Given the description of an element on the screen output the (x, y) to click on. 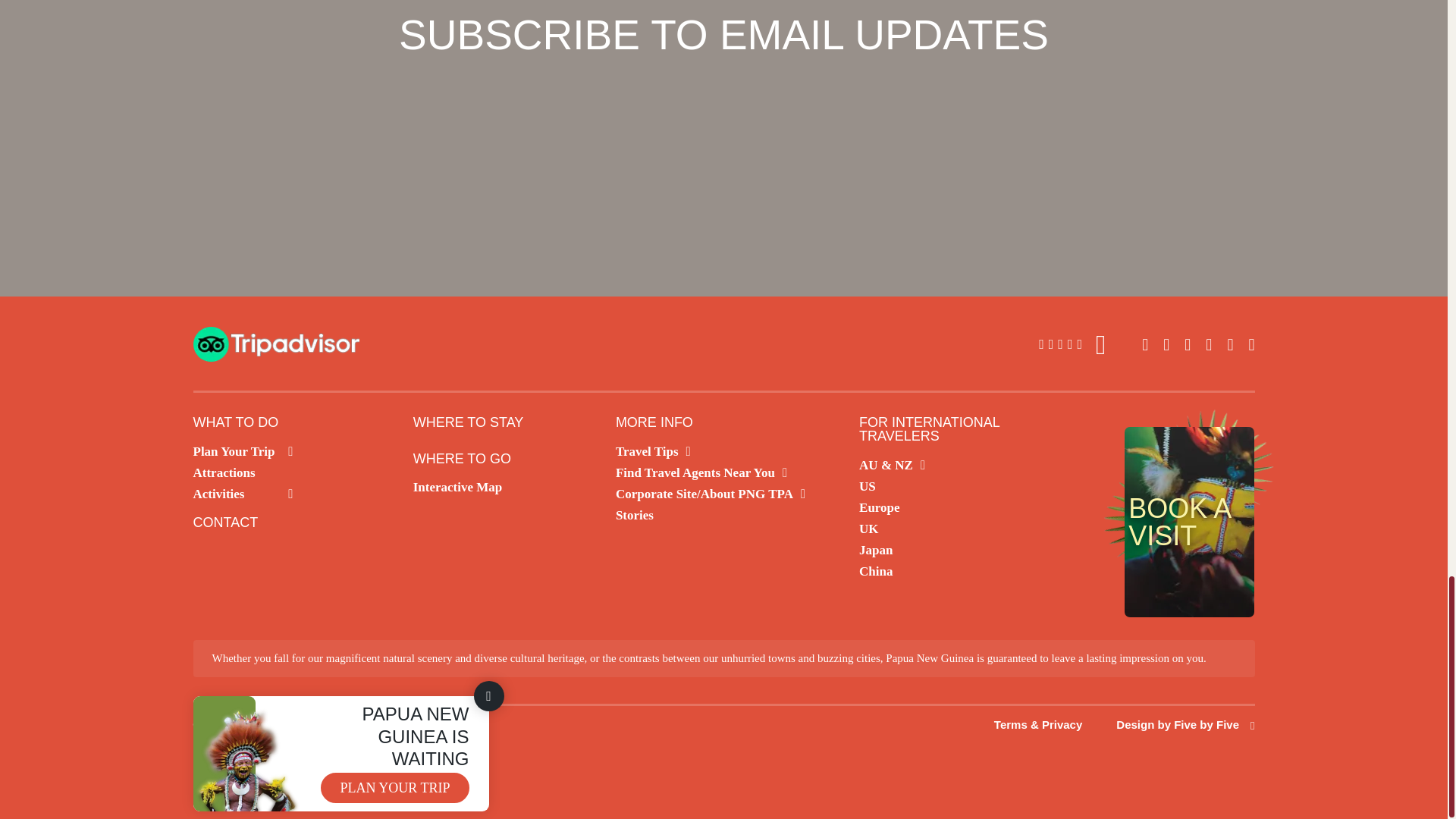
Youtube (1230, 344)
LinkedIn (1208, 344)
Twitter (1144, 344)
Google Reviews (1072, 344)
Instagram (1166, 344)
Facebook (1188, 344)
Pinterest (1250, 344)
